Given the description of an element on the screen output the (x, y) to click on. 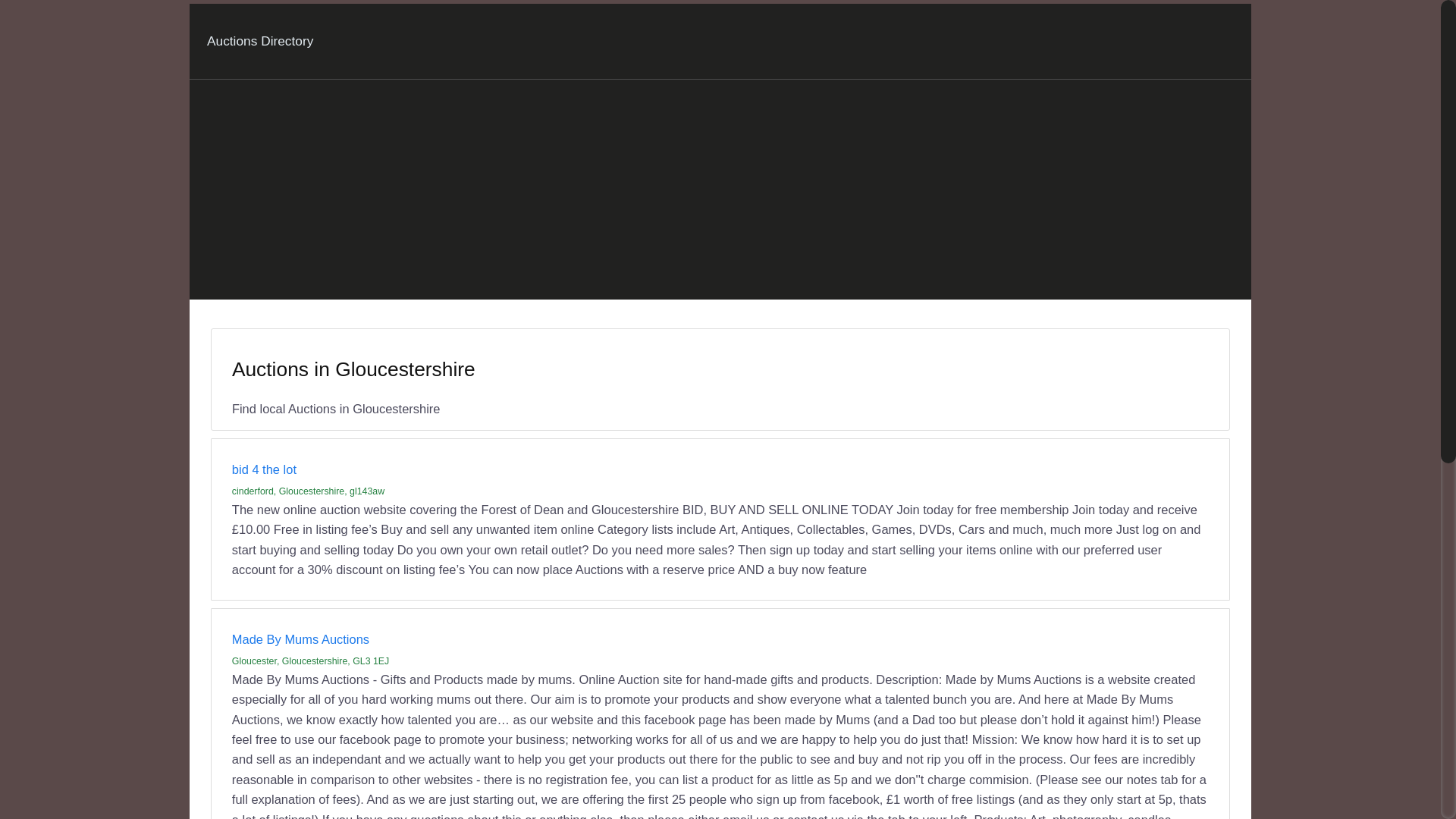
bid 4 the lot (64, 164)
Bronze Listings (218, 738)
UKSBD (56, 778)
GWRA Railway Auctions (97, 595)
Primary Menu (43, 13)
Popular Business Categories (492, 738)
Silver Listings (301, 738)
Contact (55, 805)
Updated Listings (128, 738)
About (51, 791)
